Given the description of an element on the screen output the (x, y) to click on. 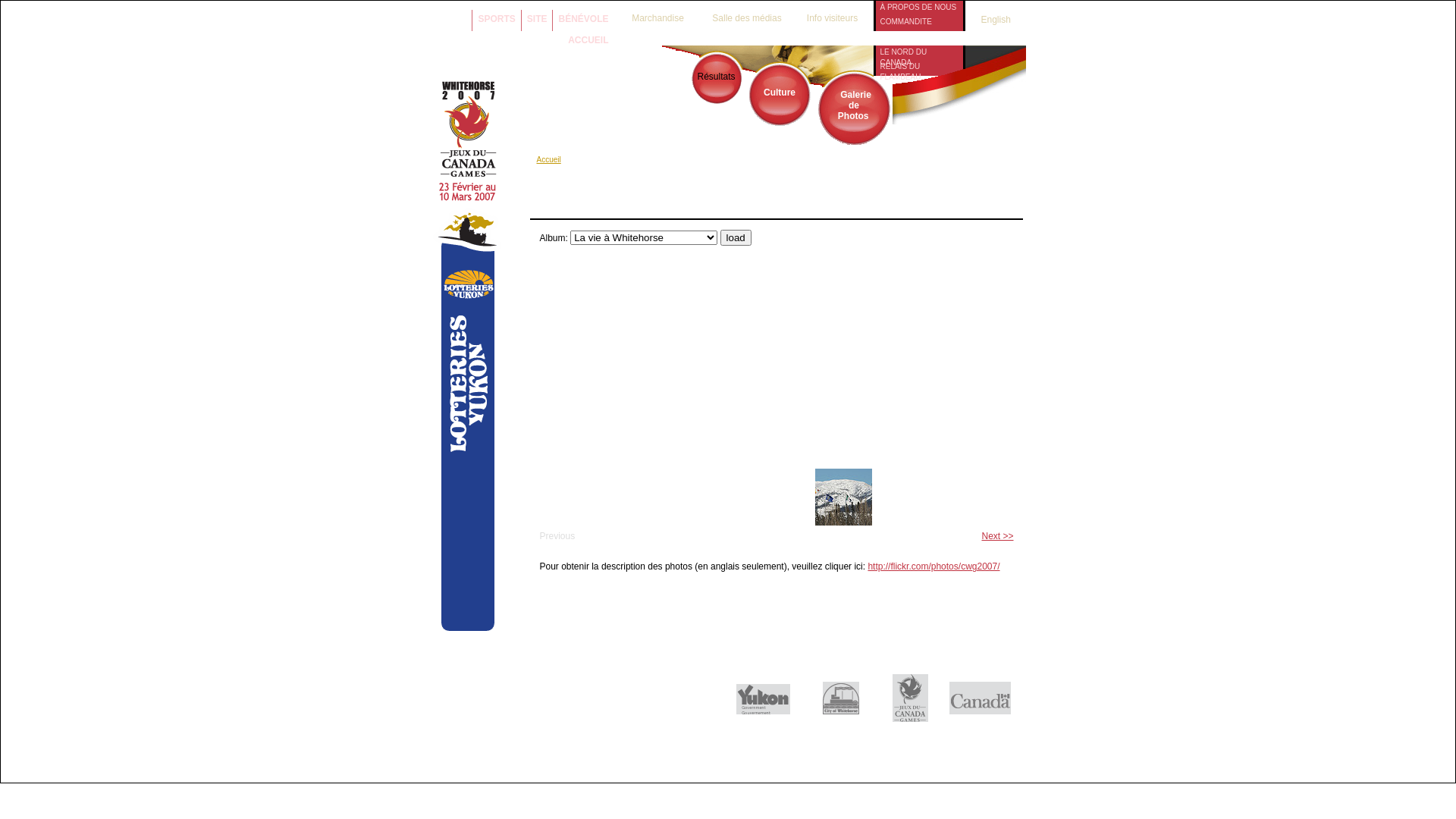
RELAIS DU FLAMBEAU Element type: text (918, 65)
Lotteries Yukon Element type: hover (468, 627)
load Element type: text (735, 237)
http://flickr.com/photos/cwg2007/ Element type: text (933, 566)
English Element type: text (988, 19)
Galerie
de
 Photos Element type: text (853, 105)
COMMANDITE Element type: text (918, 21)
Accueil Element type: text (548, 159)
Marchandise Element type: text (657, 13)
LE NORD DU CANADA Element type: text (918, 51)
SPORTS Element type: text (496, 16)
Culture Element type: text (779, 92)
Next >> Element type: text (997, 535)
SITE Element type: text (536, 16)
Info visiteurs Element type: text (832, 13)
ACCUEIL Element type: text (587, 38)
